Given the description of an element on the screen output the (x, y) to click on. 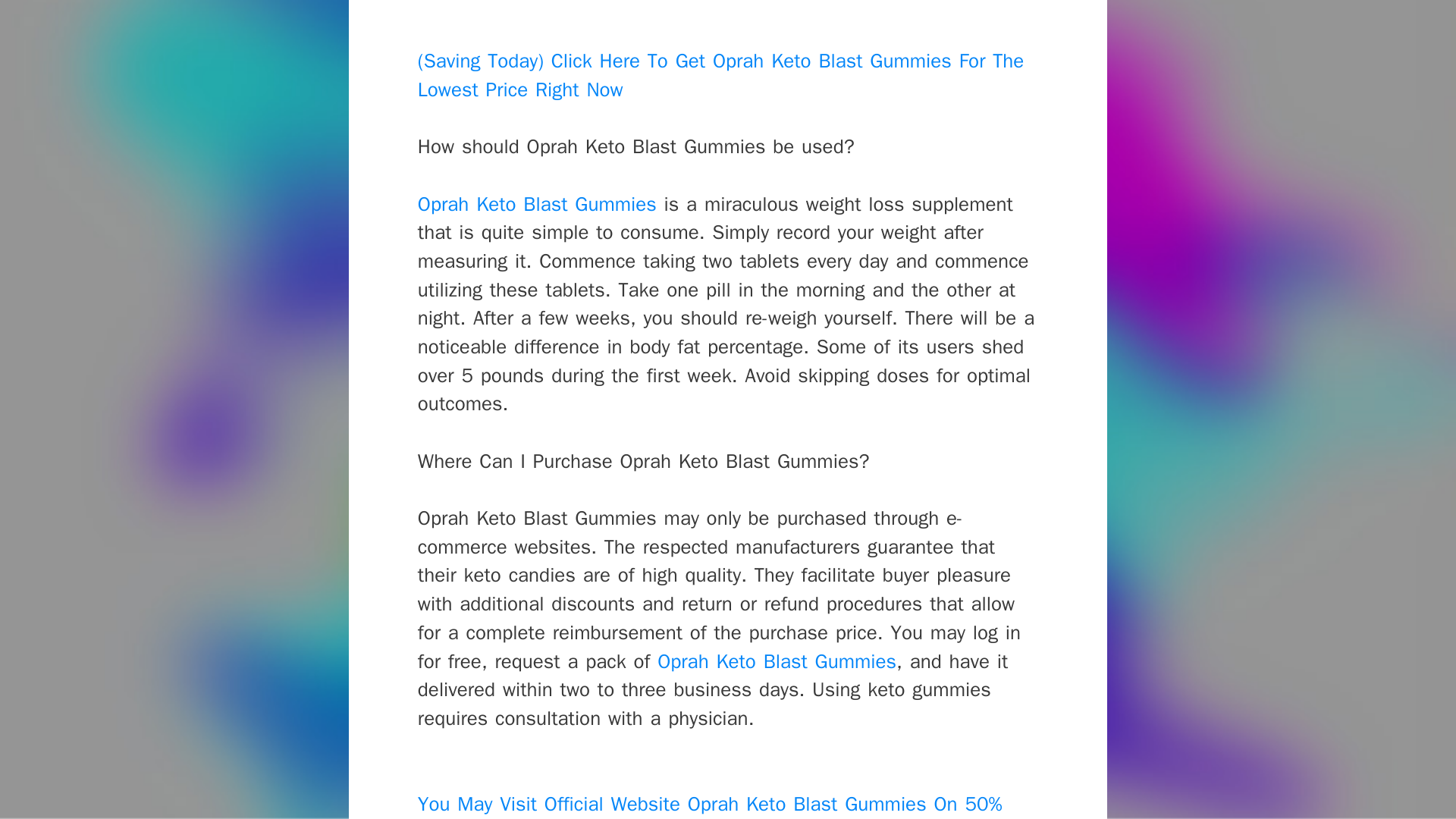
Oprah Keto Blast Gummies (777, 661)
Oprah Keto Blast Gummies (536, 203)
